Given the description of an element on the screen output the (x, y) to click on. 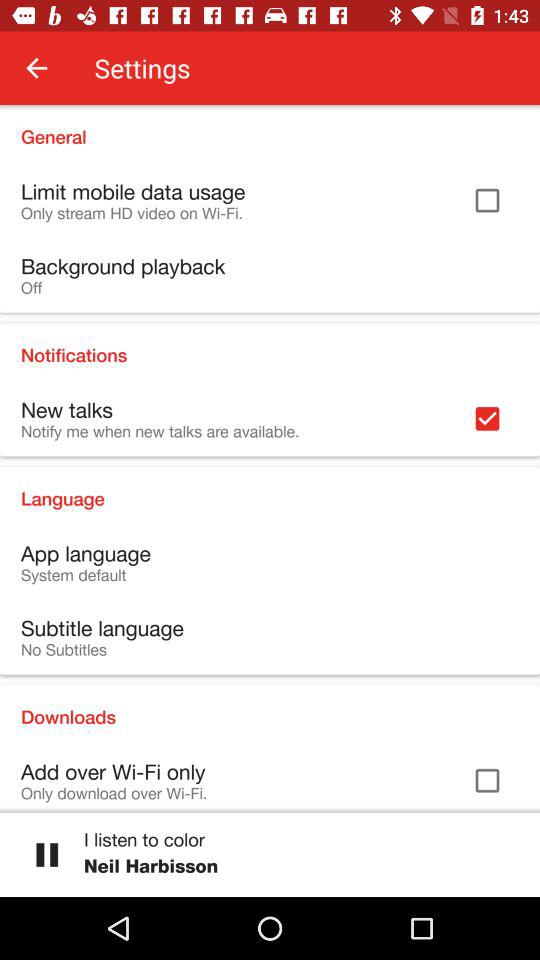
choose item next to the settings (36, 68)
